Given the description of an element on the screen output the (x, y) to click on. 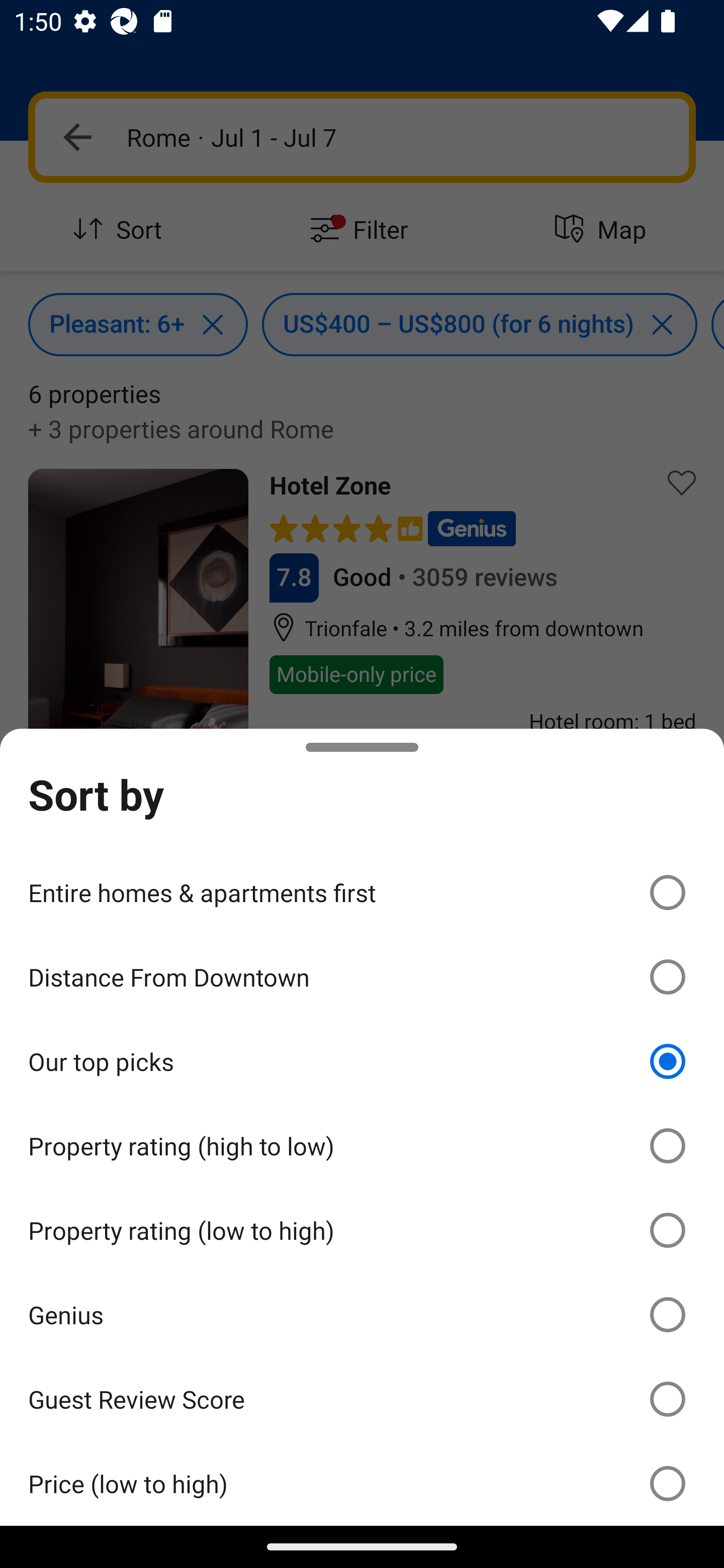
Entire homes & apartments first (362, 891)
Distance From Downtown (362, 976)
Our top picks (362, 1061)
Property rating (high to low) (362, 1145)
Property rating (low to high) (362, 1230)
Genius (362, 1314)
Guest Review Score (362, 1398)
Price (low to high) (362, 1482)
